Given the description of an element on the screen output the (x, y) to click on. 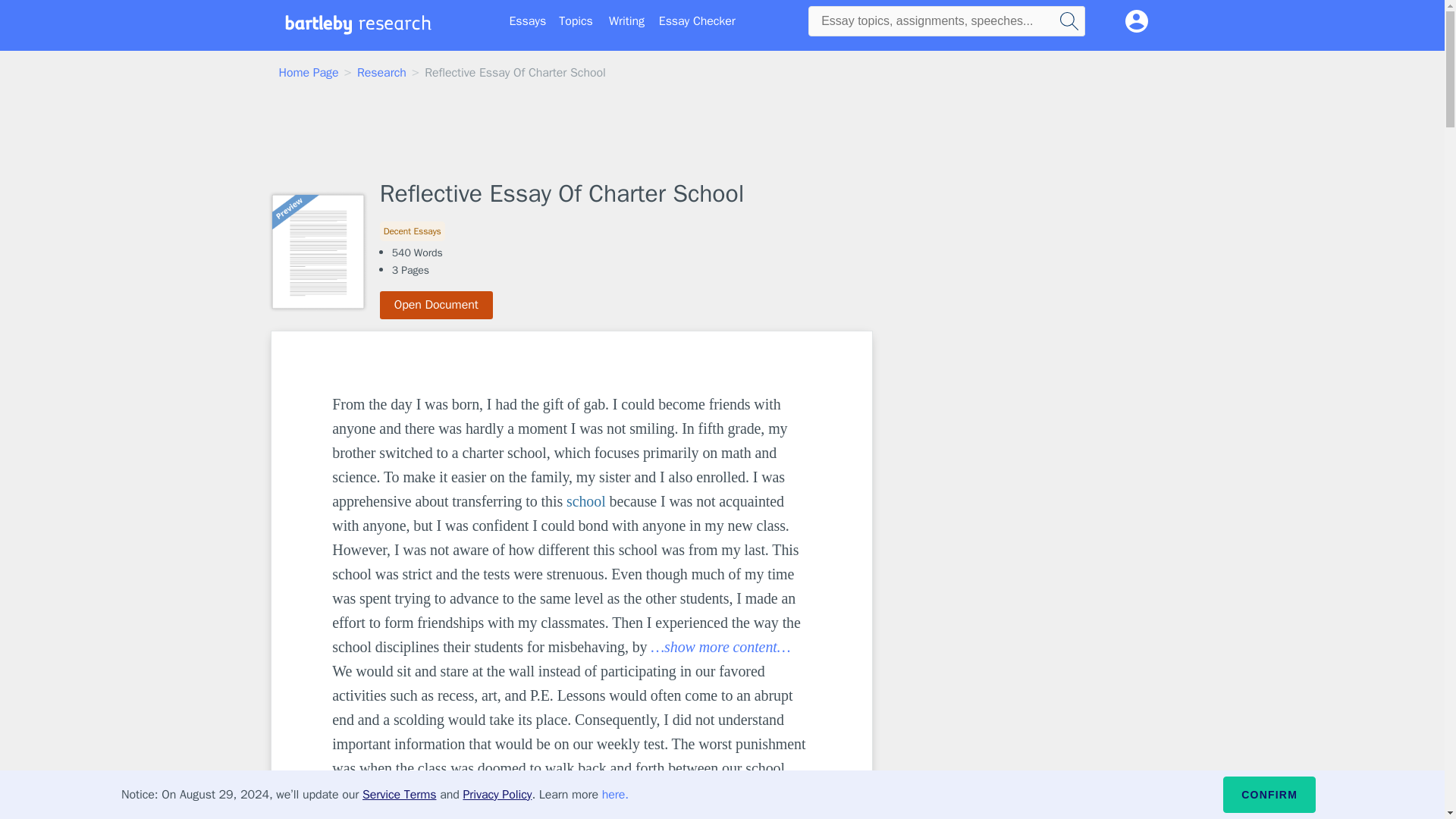
Essays (528, 20)
school (585, 501)
Topics (575, 20)
Writing (626, 20)
Essay Checker (697, 20)
Home Page (309, 72)
Open Document (436, 305)
Research (381, 72)
